Given the description of an element on the screen output the (x, y) to click on. 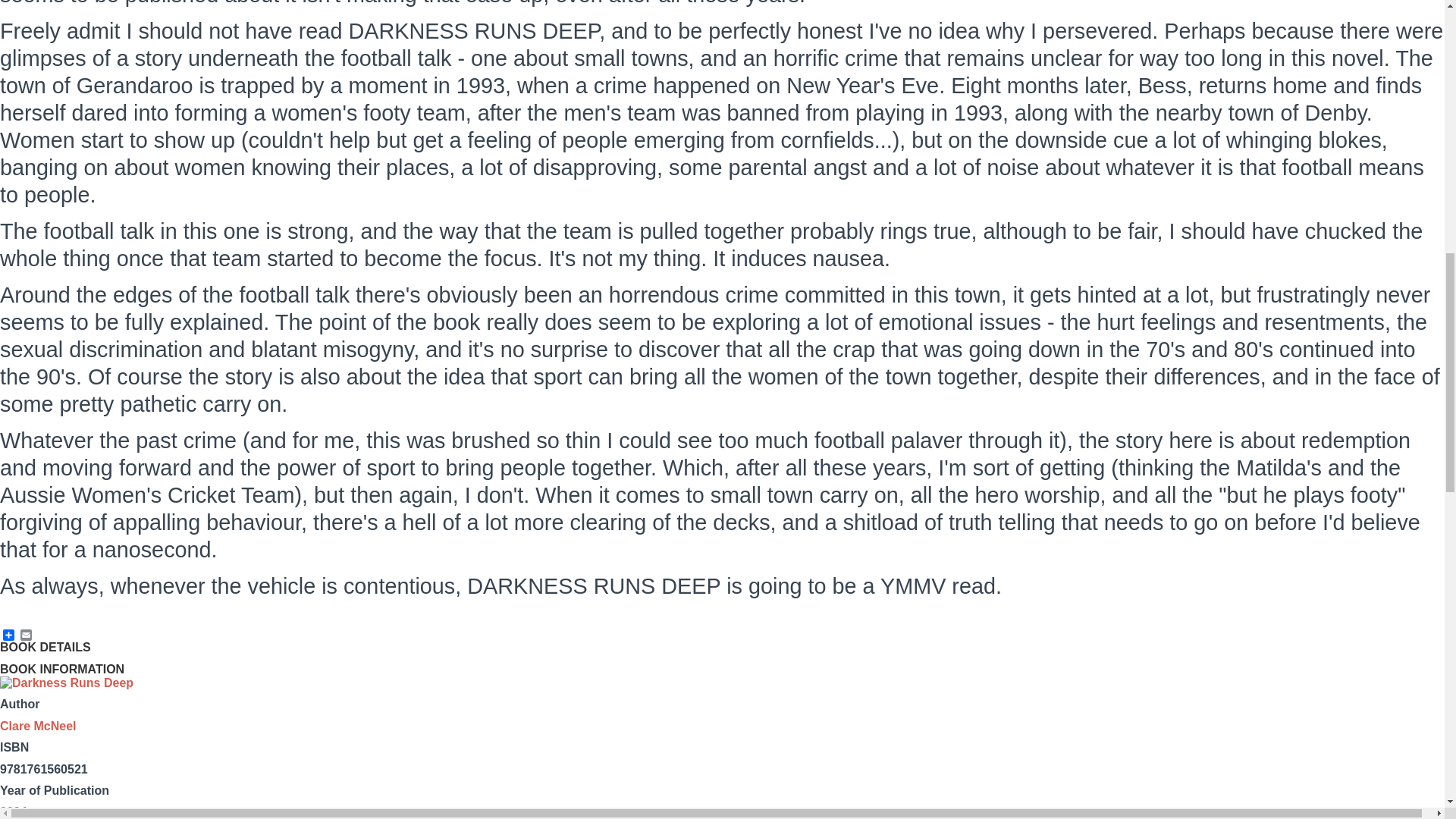
Clare McNeel (38, 725)
Email (25, 633)
2024 (13, 811)
Share (8, 633)
